Given the description of an element on the screen output the (x, y) to click on. 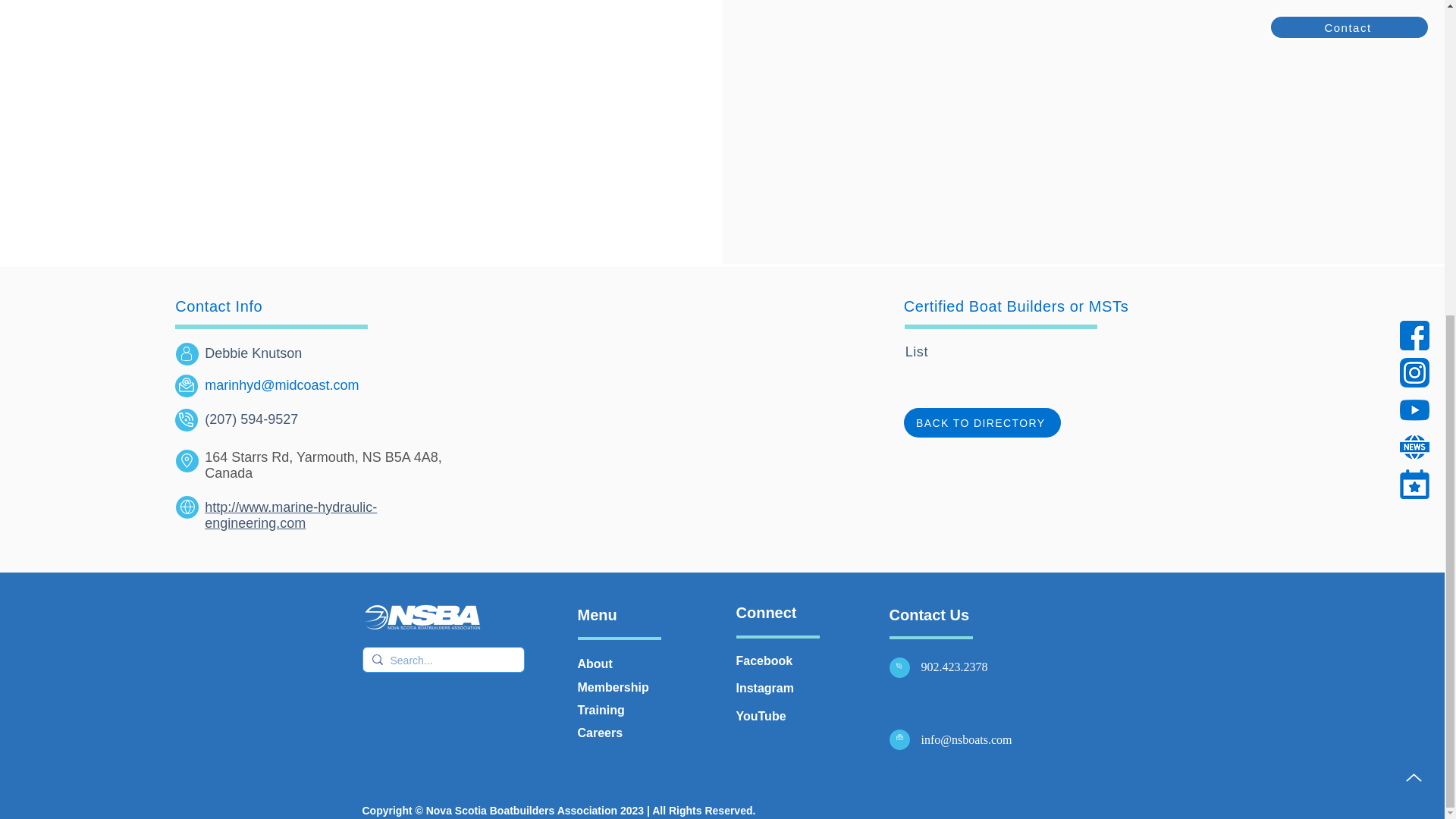
Careers (600, 732)
Training (601, 709)
BACK TO DIRECTORY (982, 422)
Membership (613, 686)
About (595, 663)
